Given the description of an element on the screen output the (x, y) to click on. 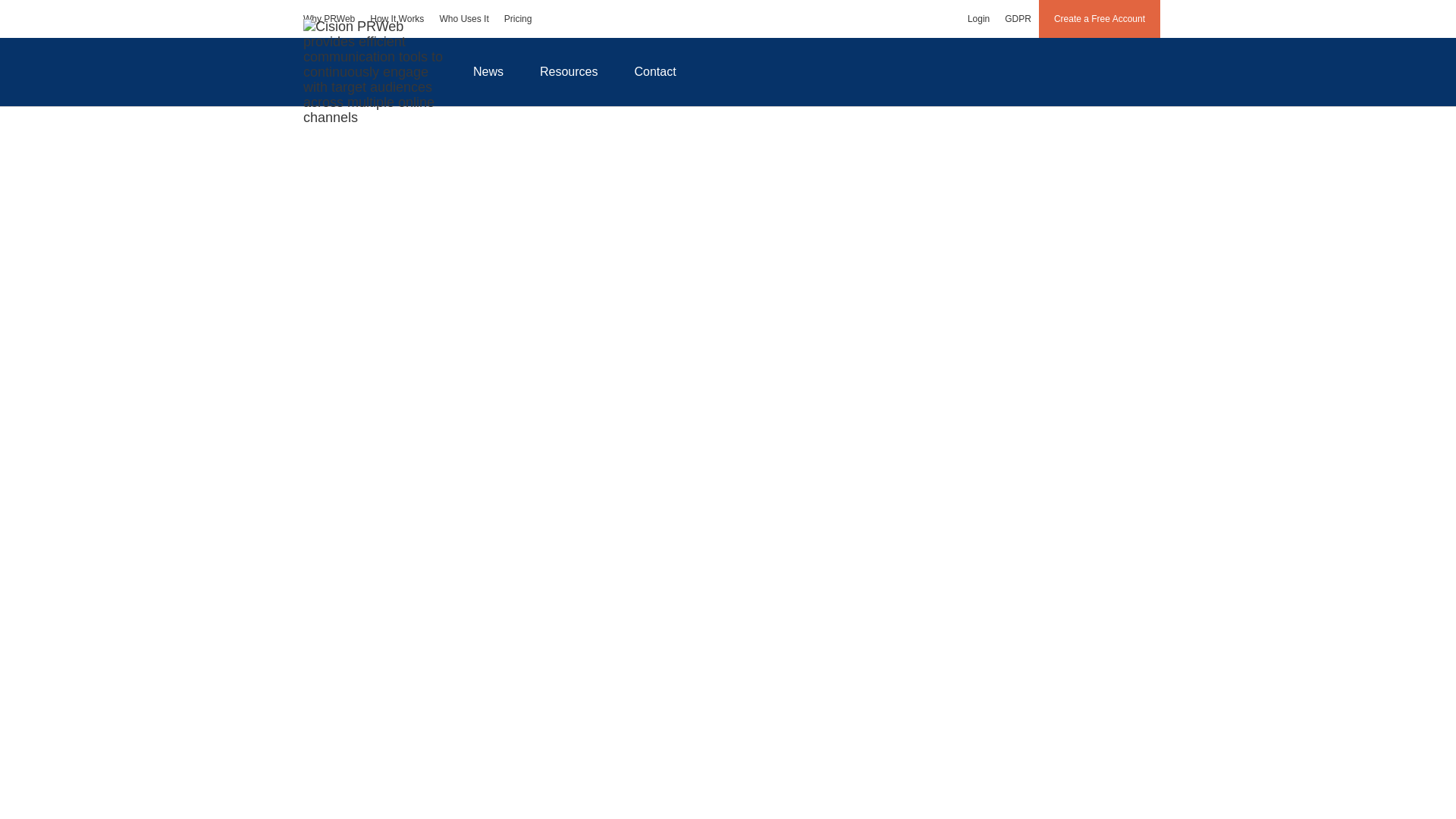
Login (978, 18)
Why PRWeb (328, 18)
News (487, 71)
GDPR (1018, 18)
Create a Free Account (1099, 18)
Who Uses It (463, 18)
Resources (568, 71)
How It Works (396, 18)
Pricing (518, 18)
Contact (654, 71)
